Given the description of an element on the screen output the (x, y) to click on. 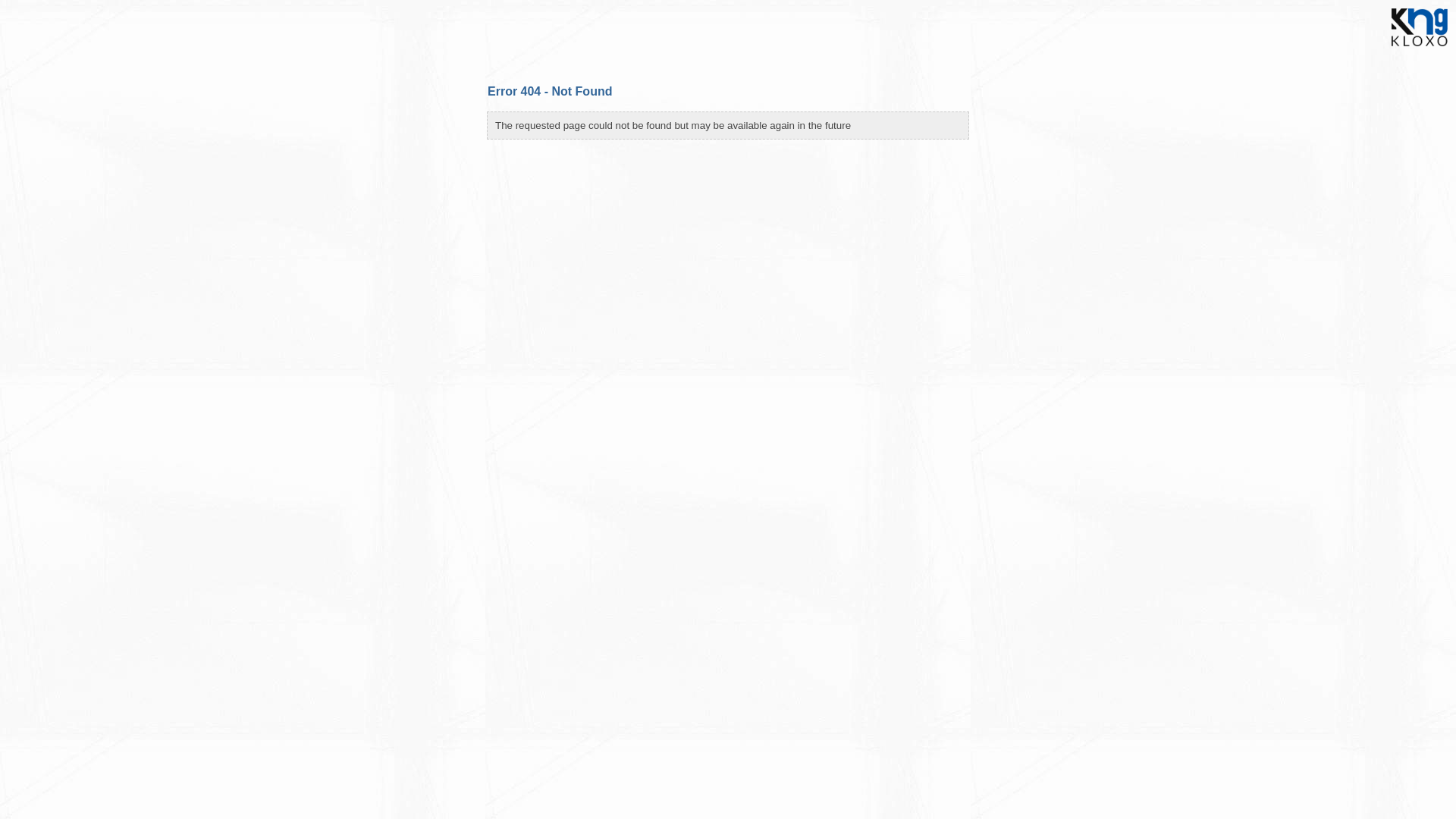
KloxoNG website Element type: hover (1419, 50)
